Given the description of an element on the screen output the (x, y) to click on. 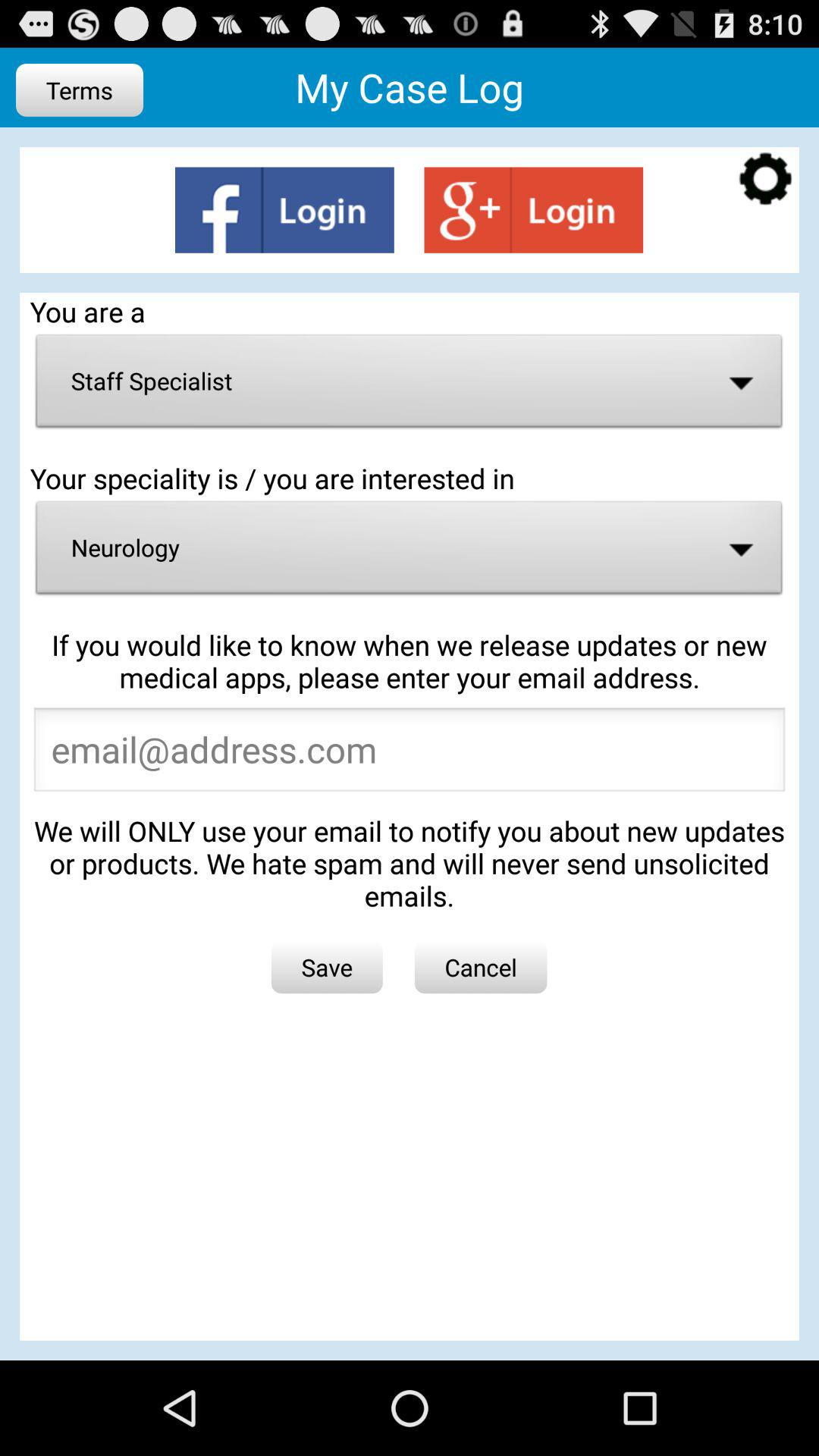
login page (533, 210)
